Given the description of an element on the screen output the (x, y) to click on. 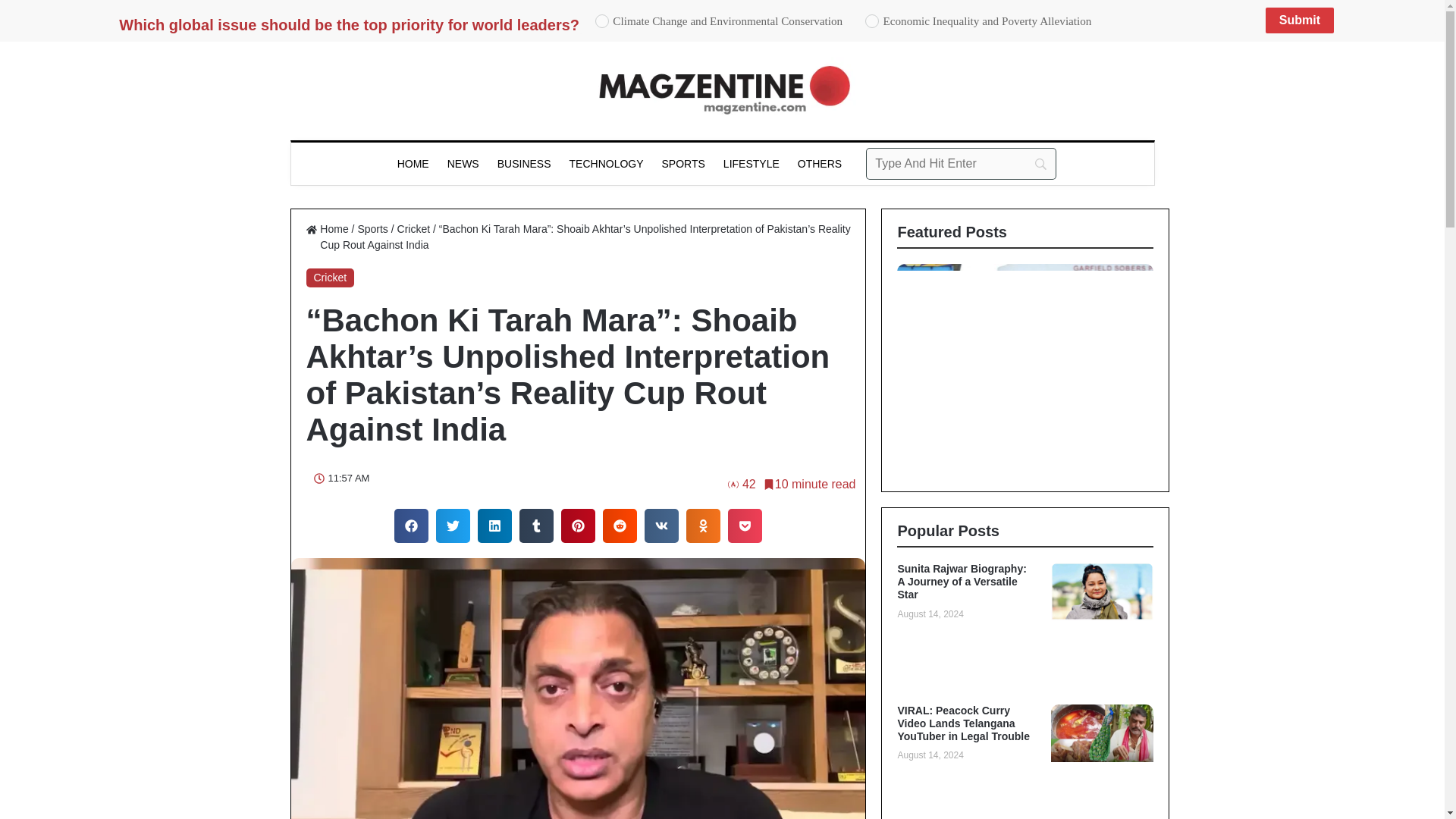
Economic Inequality and Poverty Alleviation (871, 20)
SPORTS (683, 163)
BUSINESS (523, 163)
HOME (413, 163)
NEWS (462, 163)
OTHERS (819, 163)
Climate Change and Environmental Conservation (601, 20)
Type And Hit Enter (961, 163)
TECHNOLOGY (606, 163)
Economic Inequality and Poverty Alleviation (871, 20)
